Given the description of an element on the screen output the (x, y) to click on. 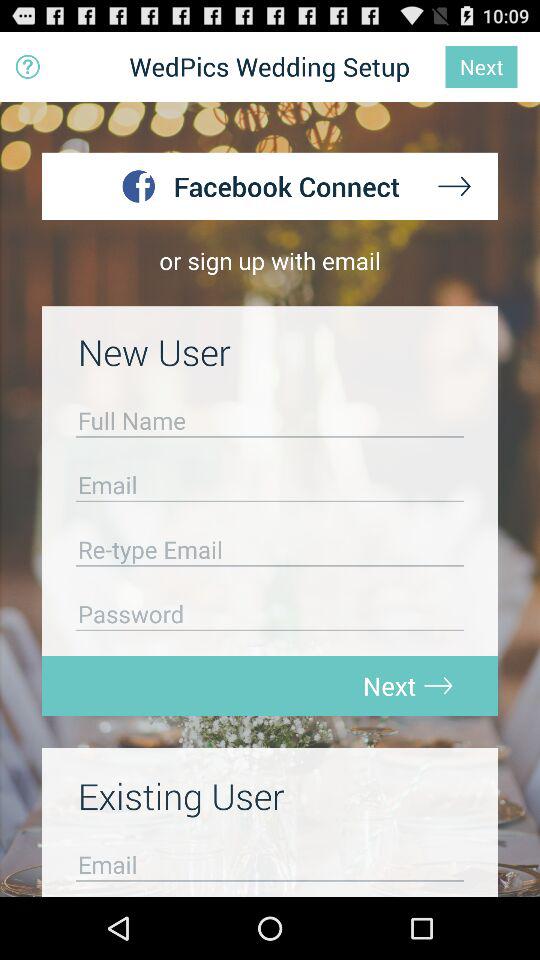
click on password (269, 619)
go to the third textfield (269, 554)
click on text box says full name (269, 426)
click on next page button (453, 186)
click on question tag icon (28, 66)
click on next which is on the top right corner (481, 67)
